Given the description of an element on the screen output the (x, y) to click on. 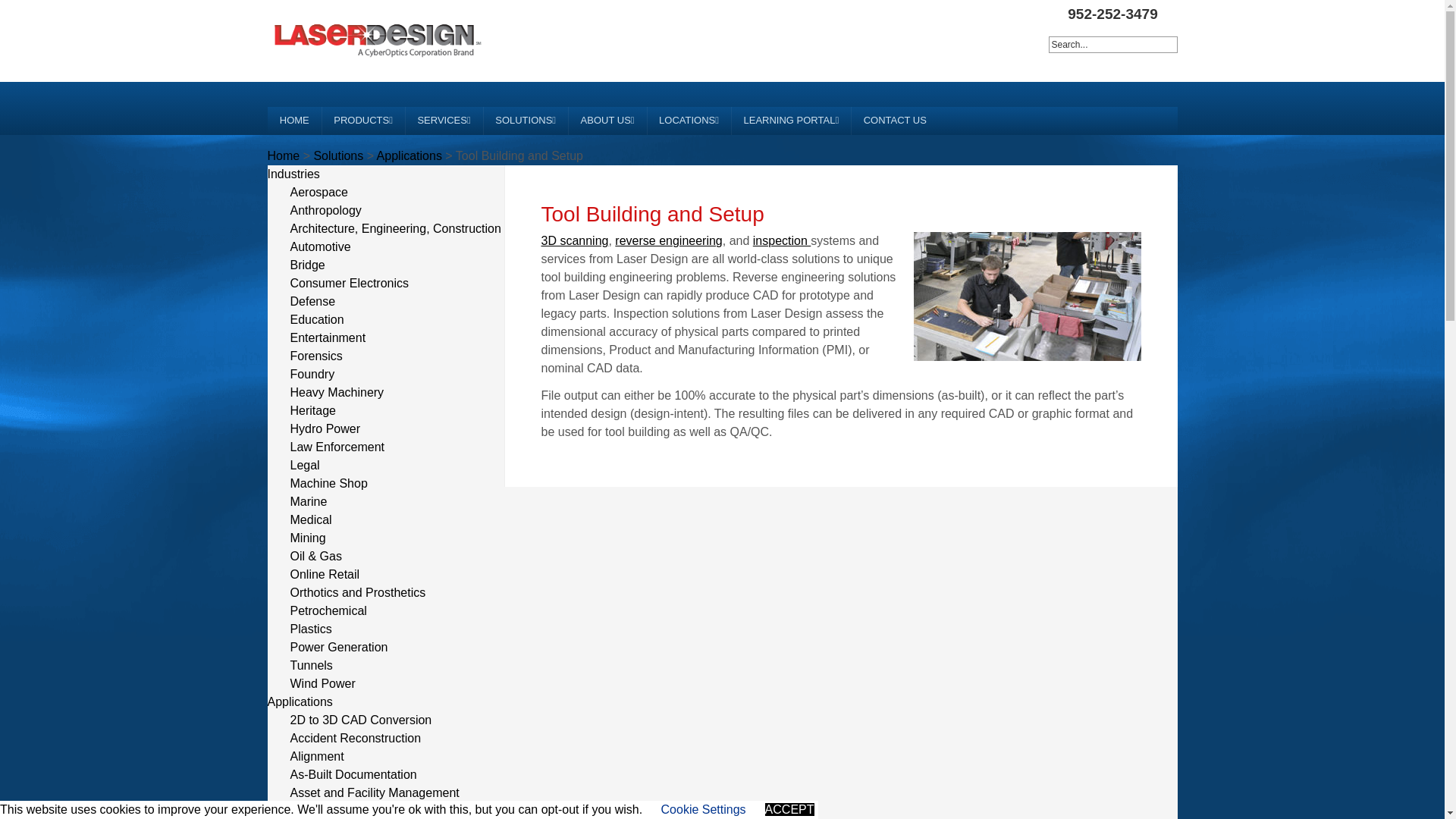
HOME (293, 121)
Reverse Engineering (668, 240)
Inspection Services (781, 240)
PRODUCTS (362, 121)
SERVICES (443, 121)
